Given the description of an element on the screen output the (x, y) to click on. 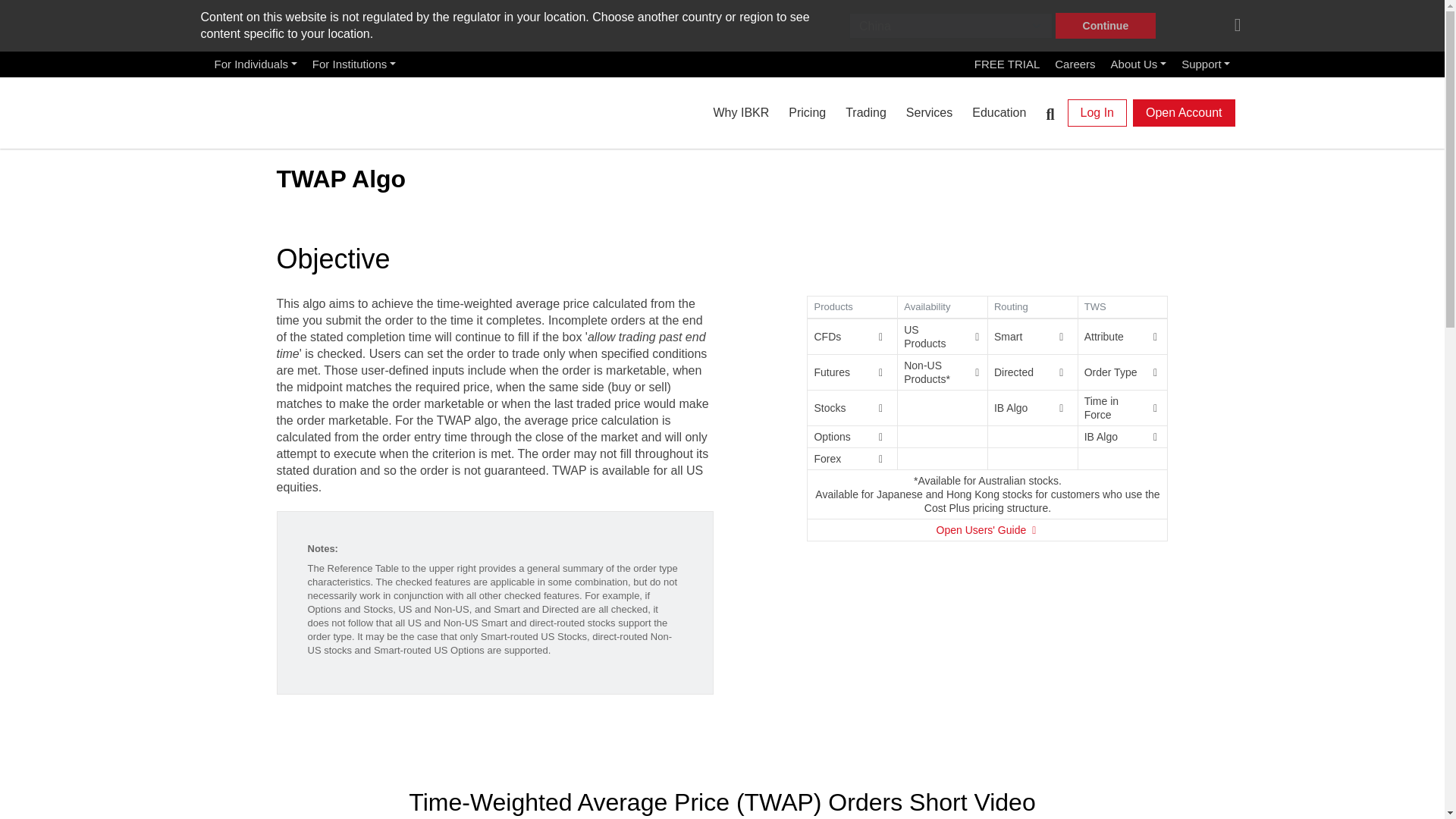
Careers (1074, 63)
Interactive Brokers Home (291, 109)
For Individuals (255, 63)
Support (1205, 63)
FREE TRIAL (1006, 63)
Continue (1105, 25)
For Institutions (353, 63)
About Us (1139, 63)
